Given the description of an element on the screen output the (x, y) to click on. 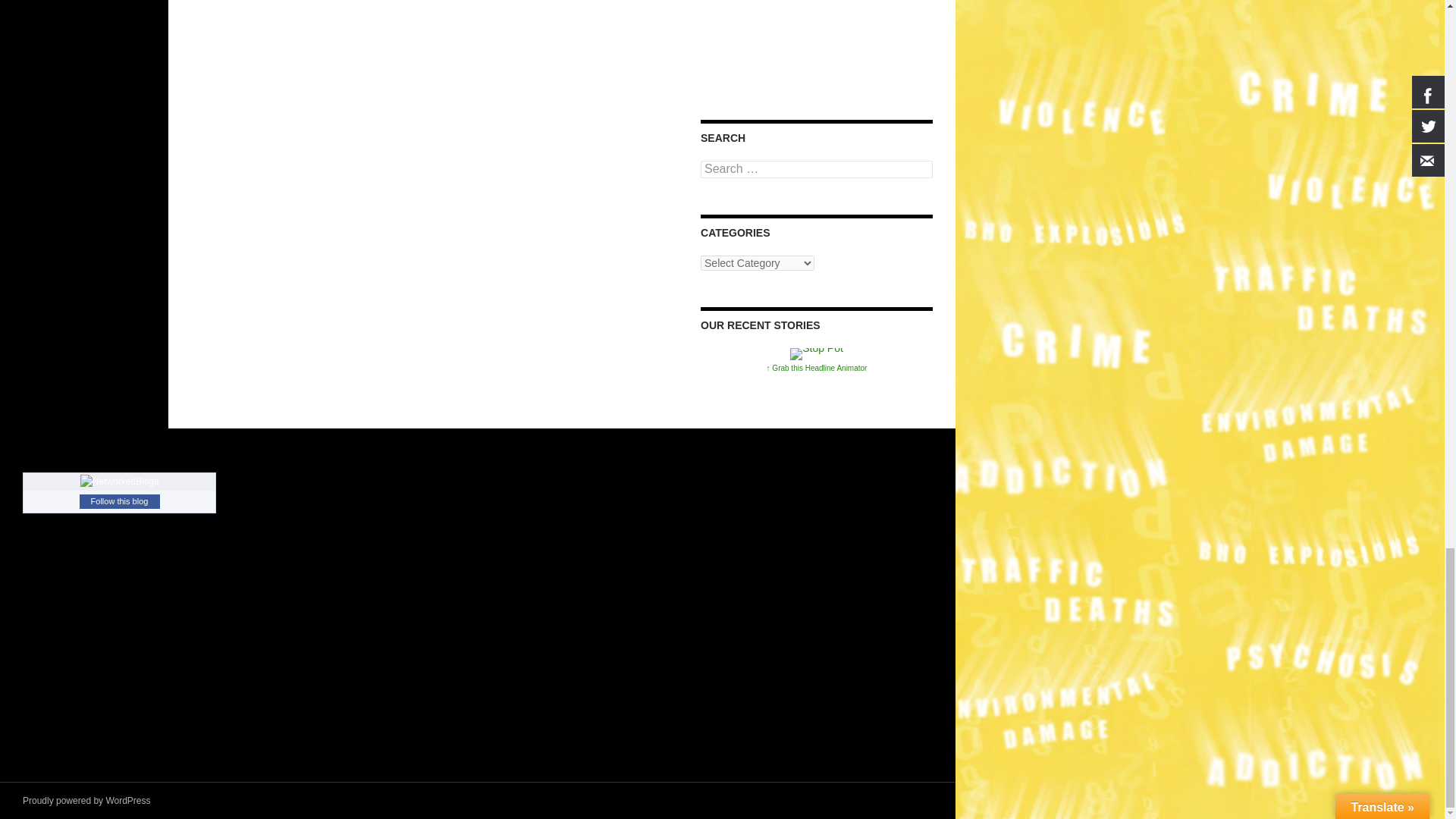
NetworkedBlogs (119, 480)
NetworkedBlogs (119, 481)
